Given the description of an element on the screen output the (x, y) to click on. 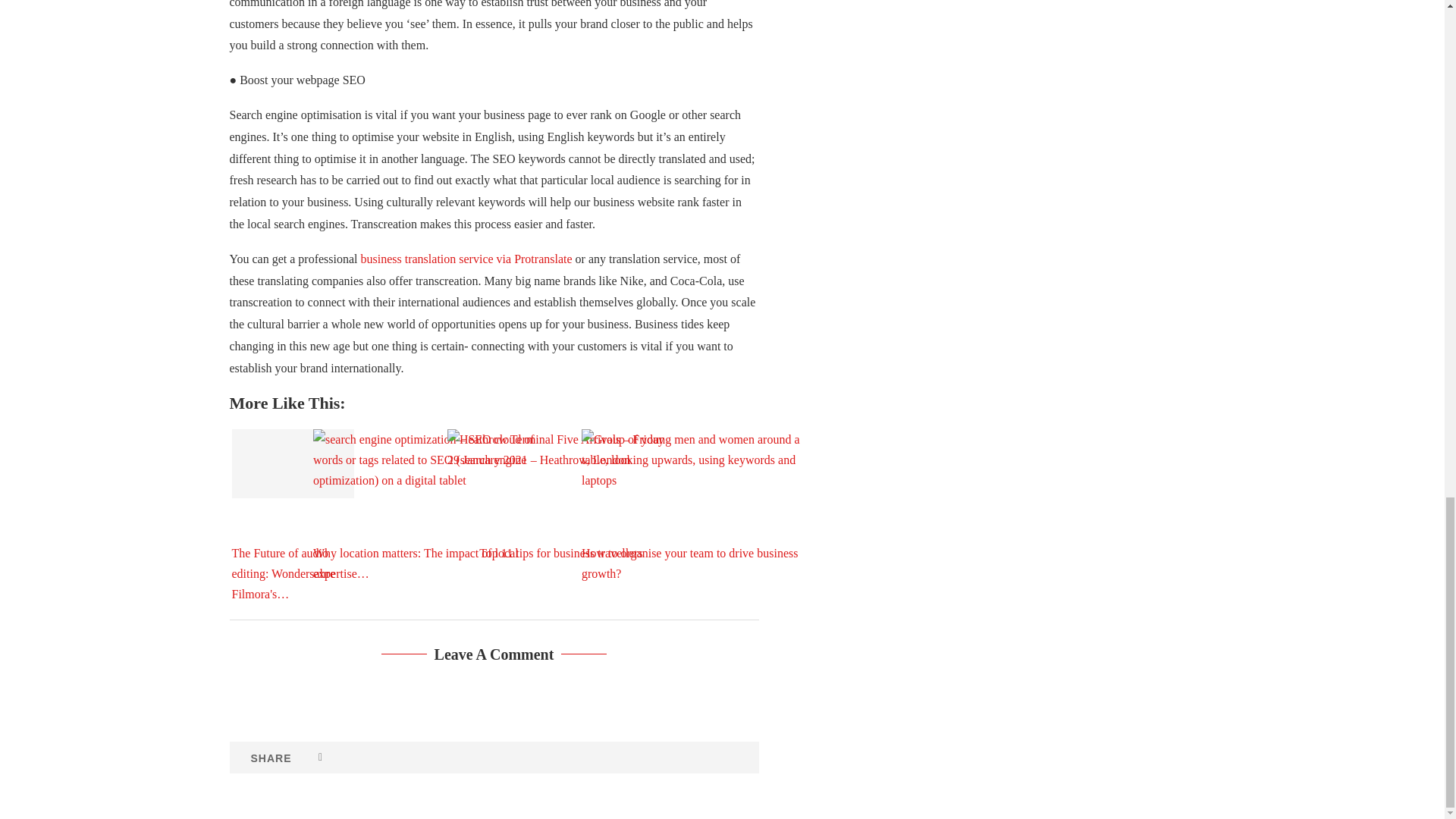
Top 11 tips for business travellers (560, 504)
How to organise your team to drive business growth? (694, 504)
